Given the description of an element on the screen output the (x, y) to click on. 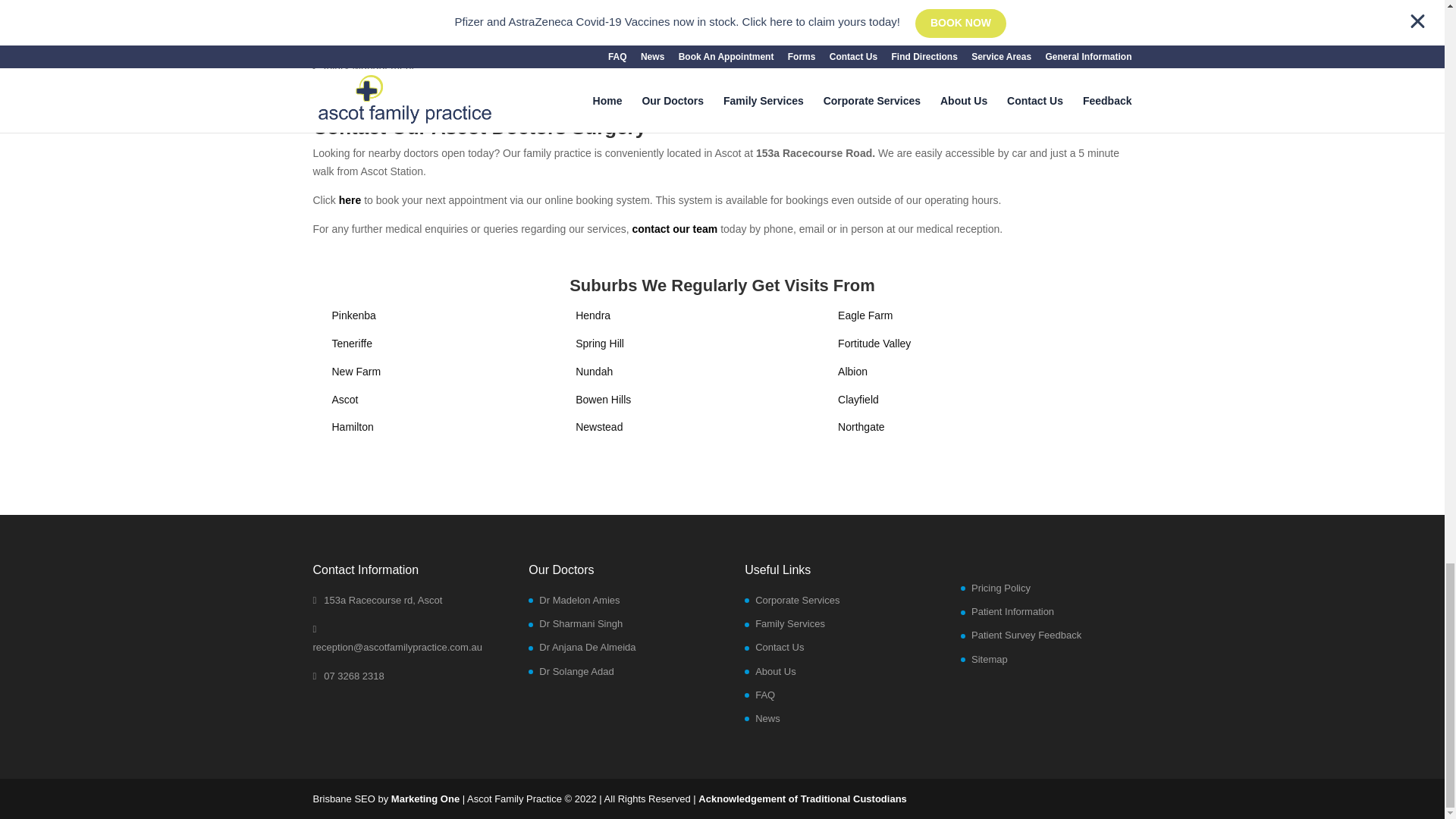
Fortitude Valley (874, 343)
Teneriffe (351, 343)
Albion (852, 371)
153a Racecourse rd, Ascot (377, 600)
Eagle Farm (865, 315)
Pinkenba (353, 315)
Northgate (860, 426)
Newstead (599, 426)
Hamilton (352, 426)
Nundah (593, 371)
